Given the description of an element on the screen output the (x, y) to click on. 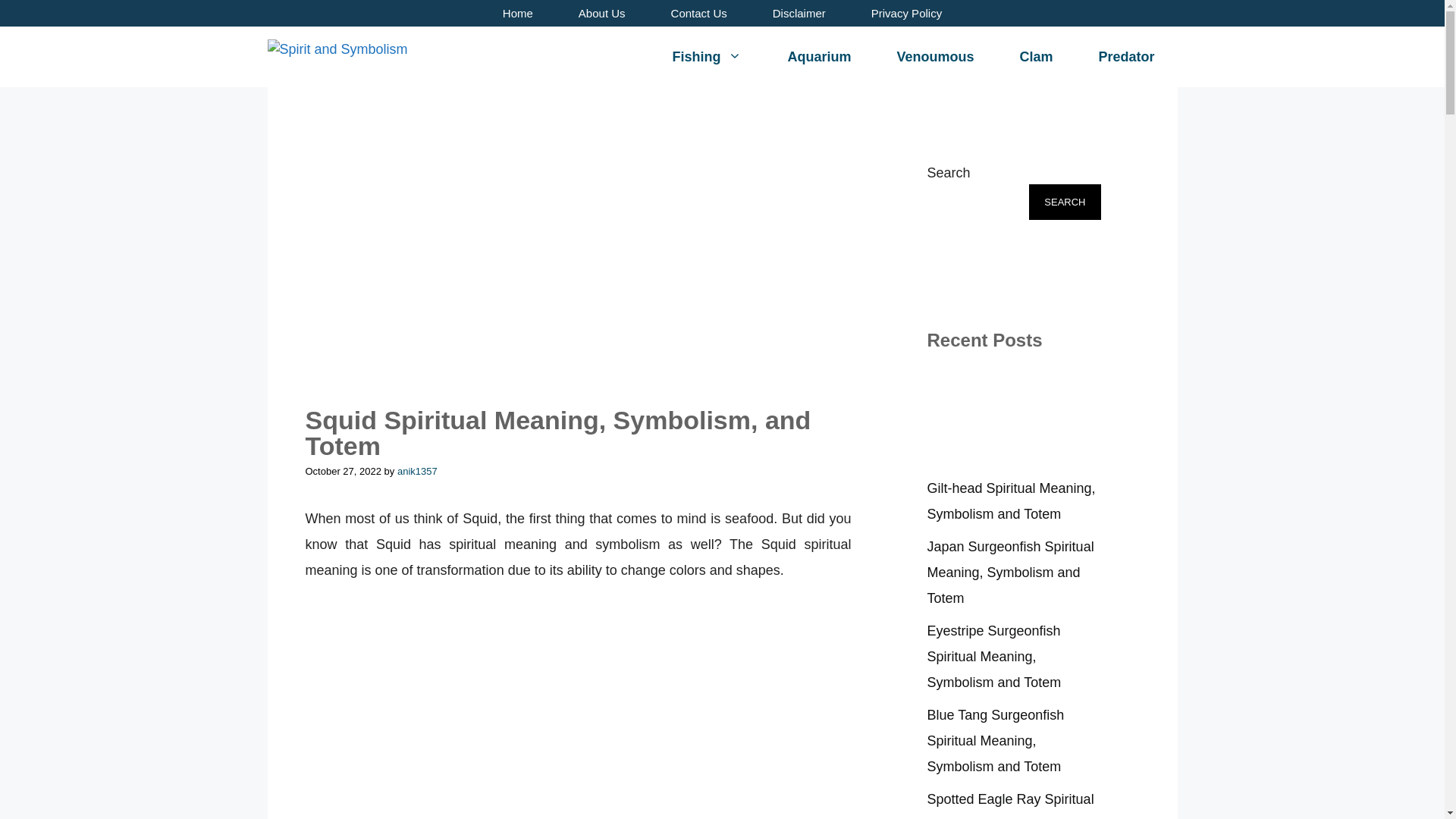
Venoumous (934, 56)
Fishing (706, 56)
Blue Tang Surgeonfish Spiritual Meaning, Symbolism and Totem (995, 740)
About Us (601, 13)
Aquarium (818, 56)
Clam (1035, 56)
Disclaimer (798, 13)
View all posts by anik1357 (417, 471)
Eyestripe Surgeonfish Spiritual Meaning, Symbolism and Totem (993, 656)
Predator (1125, 56)
Privacy Policy (905, 13)
Japan Surgeonfish Spiritual Meaning, Symbolism and Totem (1009, 572)
SEARCH (1063, 201)
Spotted Eagle Ray Spiritual Meaning, Symbolism and Totem (1009, 805)
Gilt-head Spiritual Meaning, Symbolism and Totem (1010, 500)
